Given the description of an element on the screen output the (x, y) to click on. 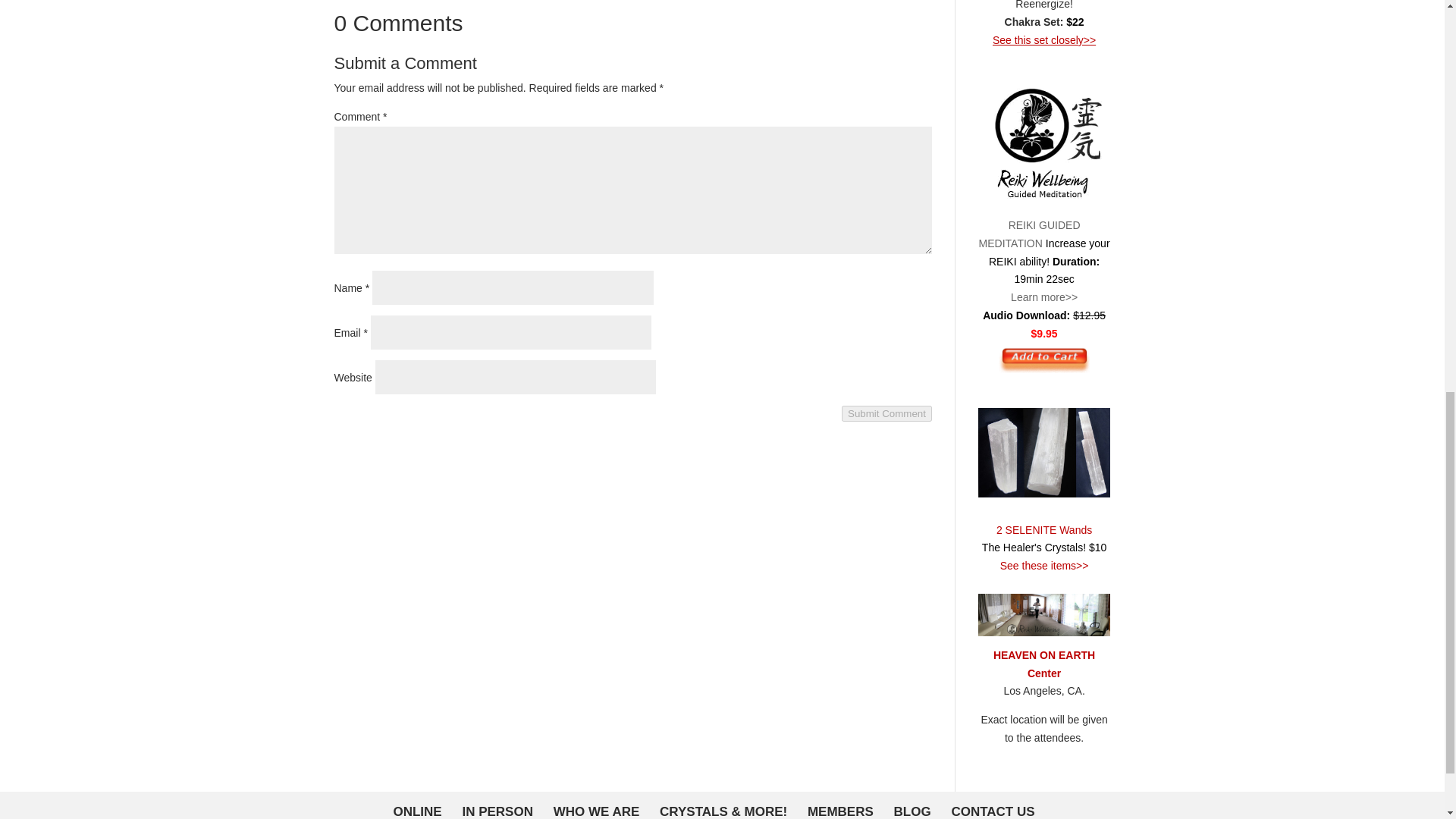
WHO WE ARE (596, 811)
HEAVEN ON EARTH Center (1043, 664)
BLOG (912, 811)
CHAKRA SET Heart Crystals (1052, 4)
Submit Comment (886, 413)
ONLINE (417, 811)
MEMBERS (840, 811)
2 SELENITE Wands (1052, 548)
CONTACT US (991, 811)
IN PERSON (496, 811)
